Given the description of an element on the screen output the (x, y) to click on. 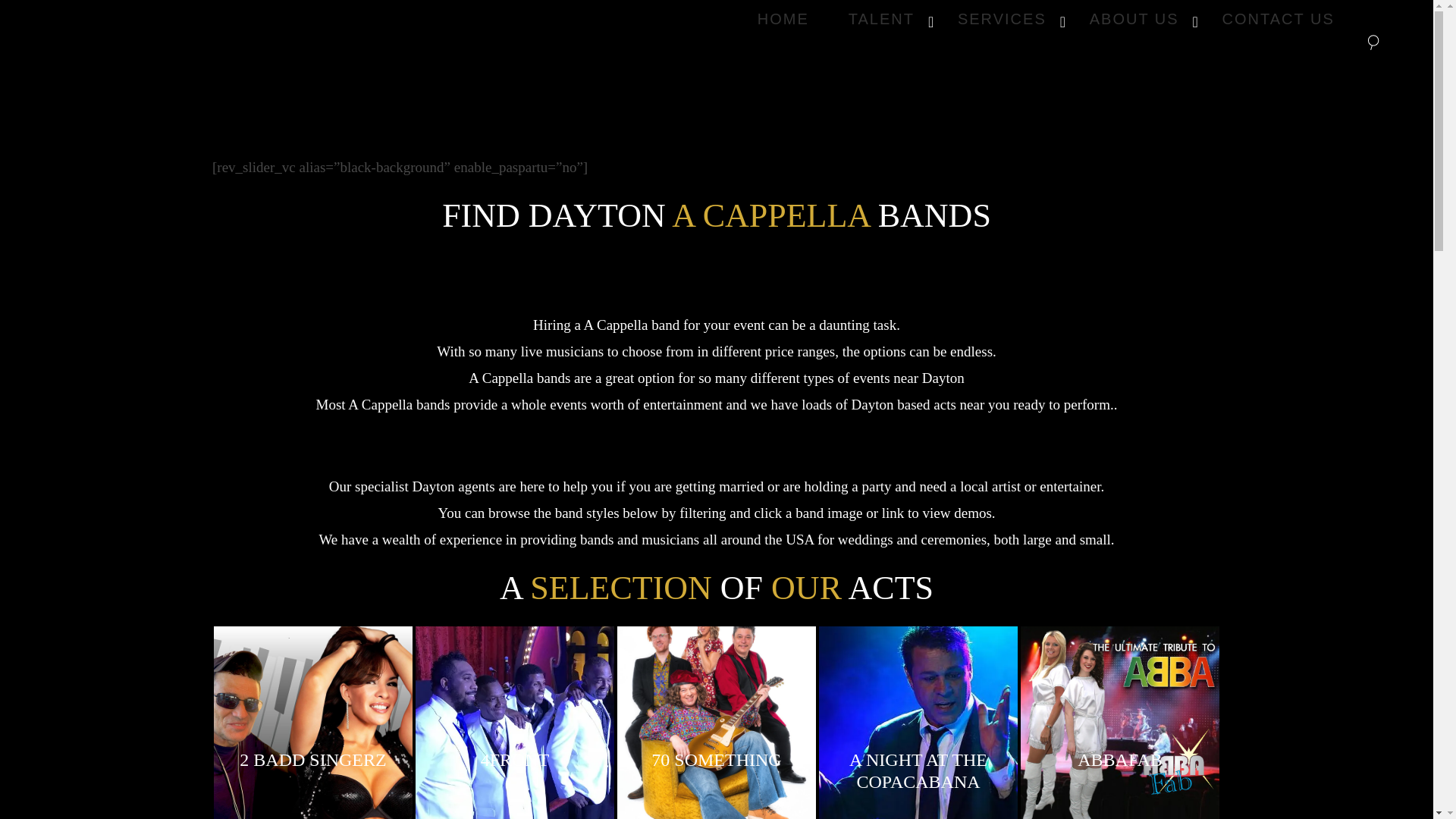
CONTACT US (1046, 18)
HOME (1278, 18)
